Given the description of an element on the screen output the (x, y) to click on. 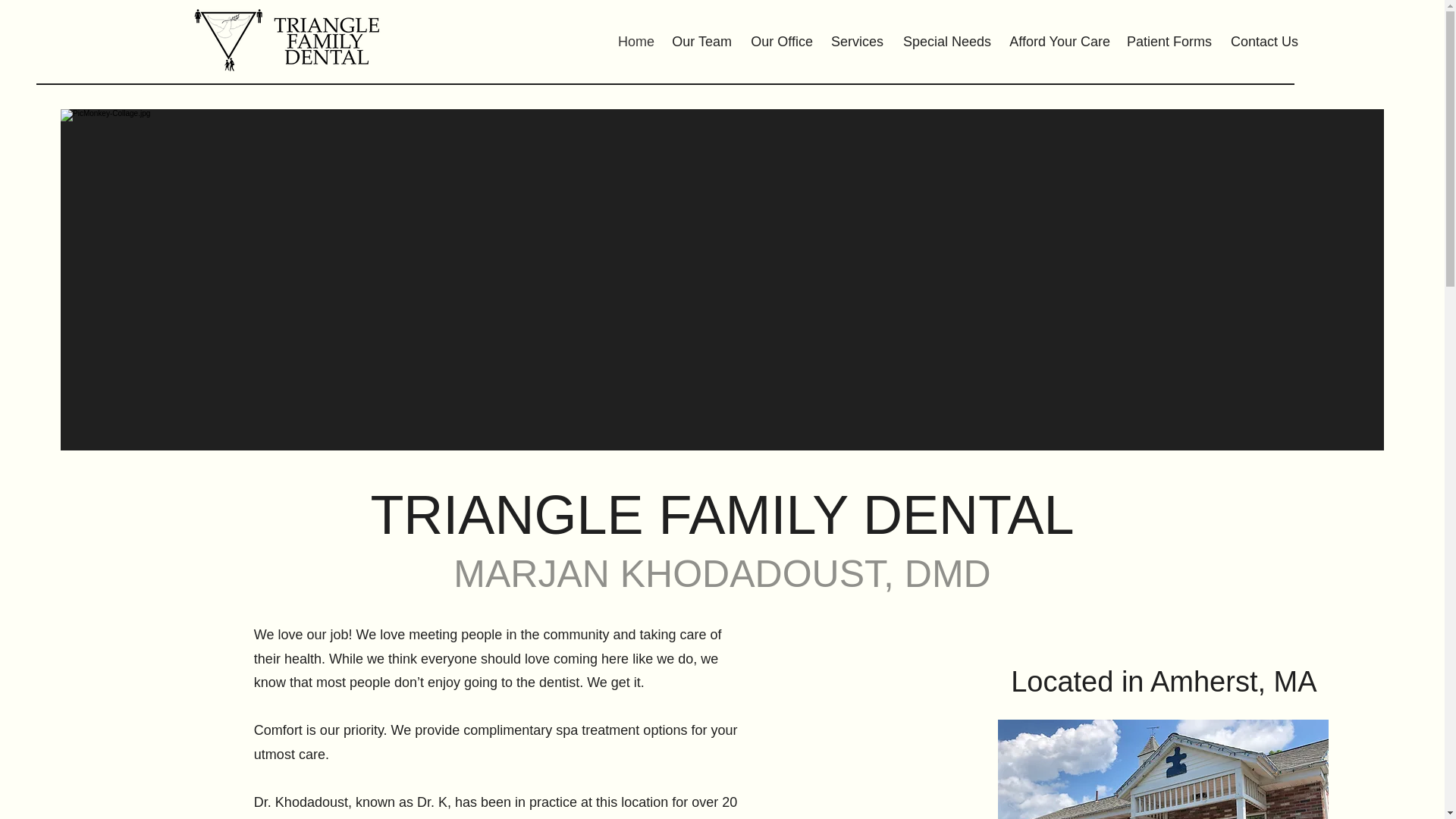
Our Team (700, 40)
Patient Forms (1169, 40)
Contact Us (1263, 40)
Services (856, 40)
Home (634, 40)
Special Needs (944, 40)
Afford Your Care (1058, 40)
Our Office (780, 40)
